Given the description of an element on the screen output the (x, y) to click on. 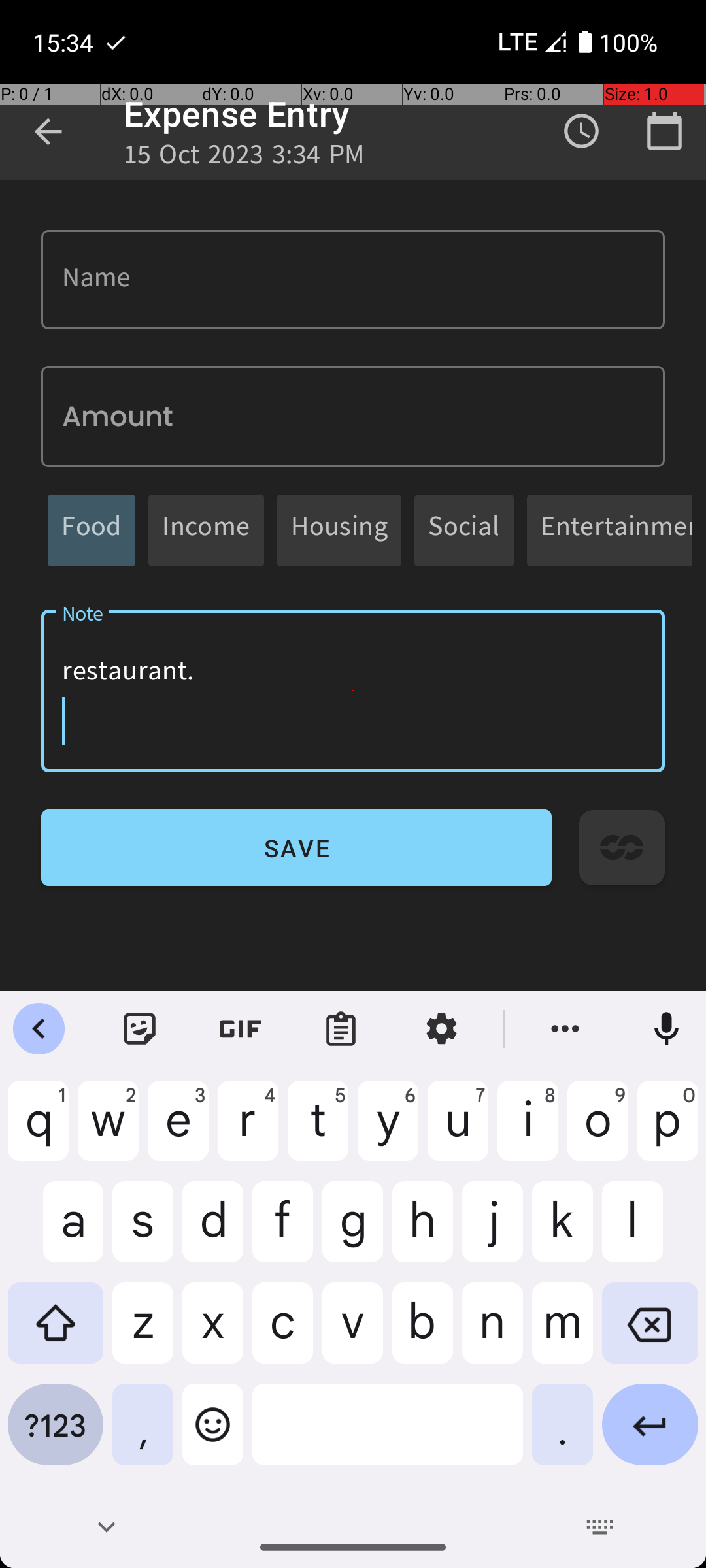
Dinner with friends at the new Italian restaurant.
 Element type: android.widget.EditText (352, 690)
